Given the description of an element on the screen output the (x, y) to click on. 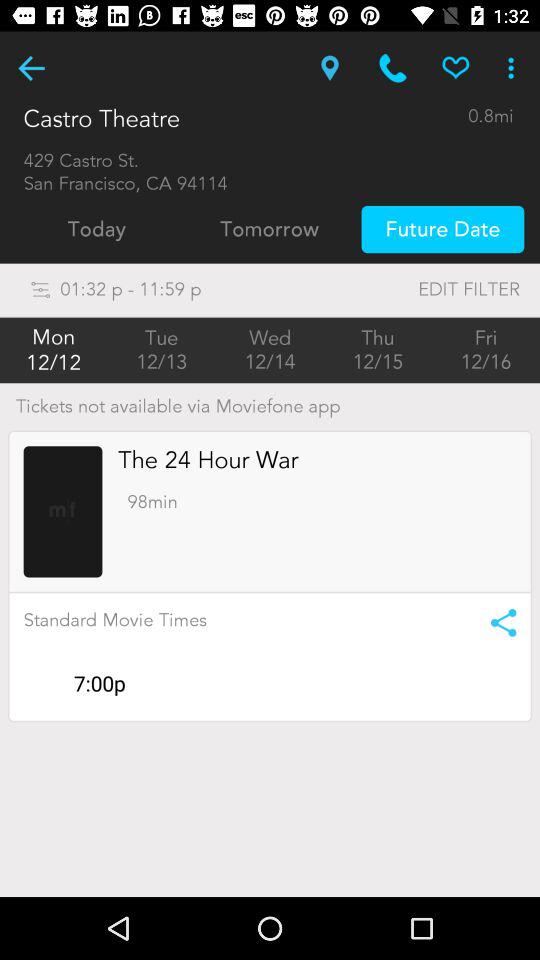
press the item below the fri
12/16 icon (496, 622)
